Given the description of an element on the screen output the (x, y) to click on. 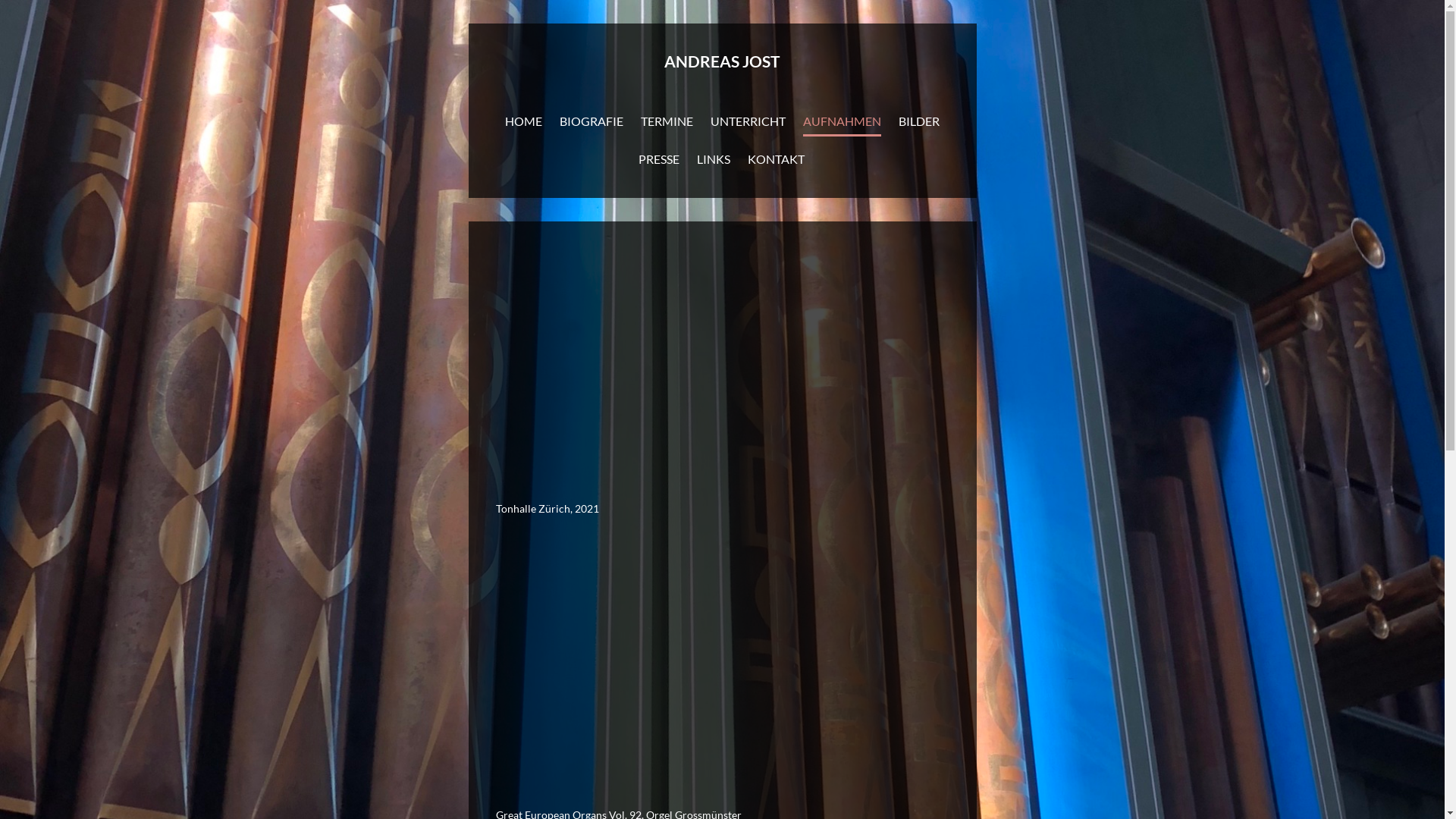
UNTERRICHT Element type: text (747, 123)
KONTAKT Element type: text (775, 161)
HOME Element type: text (523, 123)
TERMINE Element type: text (666, 123)
LINKS Element type: text (712, 161)
AUFNAHMEN Element type: text (842, 123)
ANDREAS JOST Element type: text (722, 72)
BIOGRAFIE Element type: text (591, 123)
PRESSE Element type: text (658, 161)
BILDER Element type: text (918, 123)
